Given the description of an element on the screen output the (x, y) to click on. 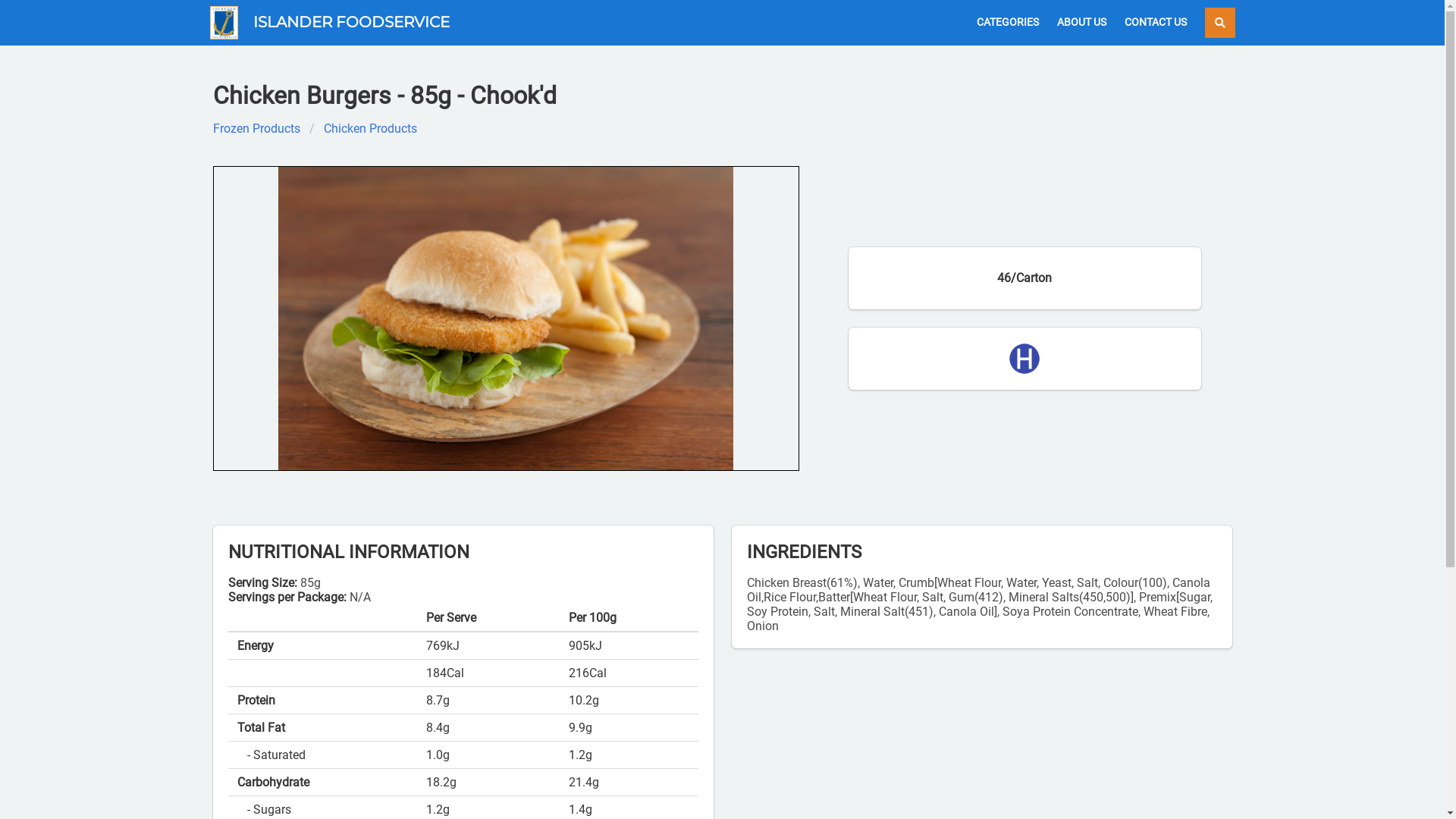
CATEGORIES Element type: text (1007, 22)
Chicken Products Element type: text (369, 128)
CONTACT US Element type: text (1154, 22)
ABOUT US Element type: text (1081, 22)
ISLANDER FOODSERVICE Element type: text (329, 22)
Frozen Products Element type: text (260, 128)
